Given the description of an element on the screen output the (x, y) to click on. 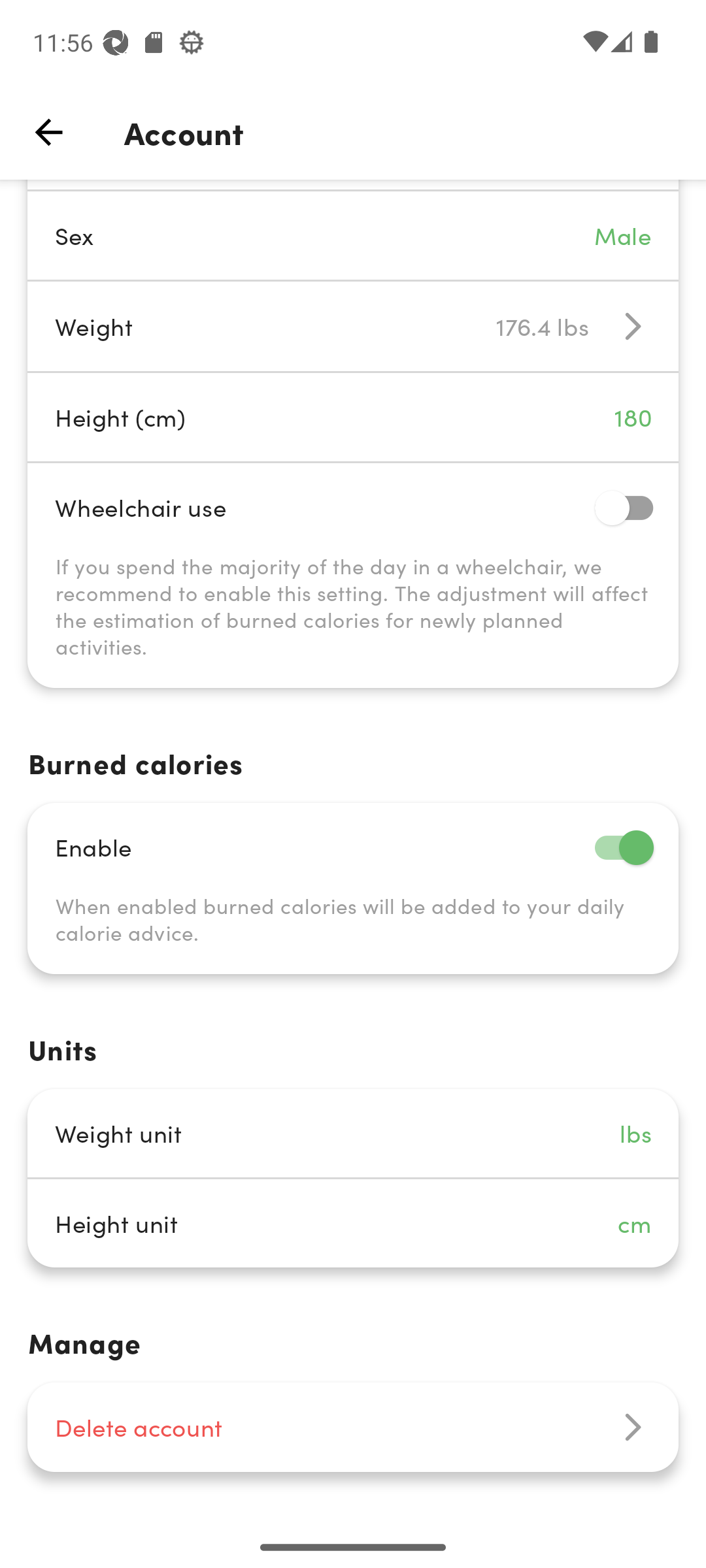
top_left_action (48, 132)
Sex Male (352, 235)
Weight 176.4 lbs (352, 326)
Height (cm) 180 (352, 416)
Wheelchair use (352, 506)
Enable (352, 846)
Weight unit lbs (352, 1133)
Height unit cm (352, 1222)
Delete account (352, 1427)
